Given the description of an element on the screen output the (x, y) to click on. 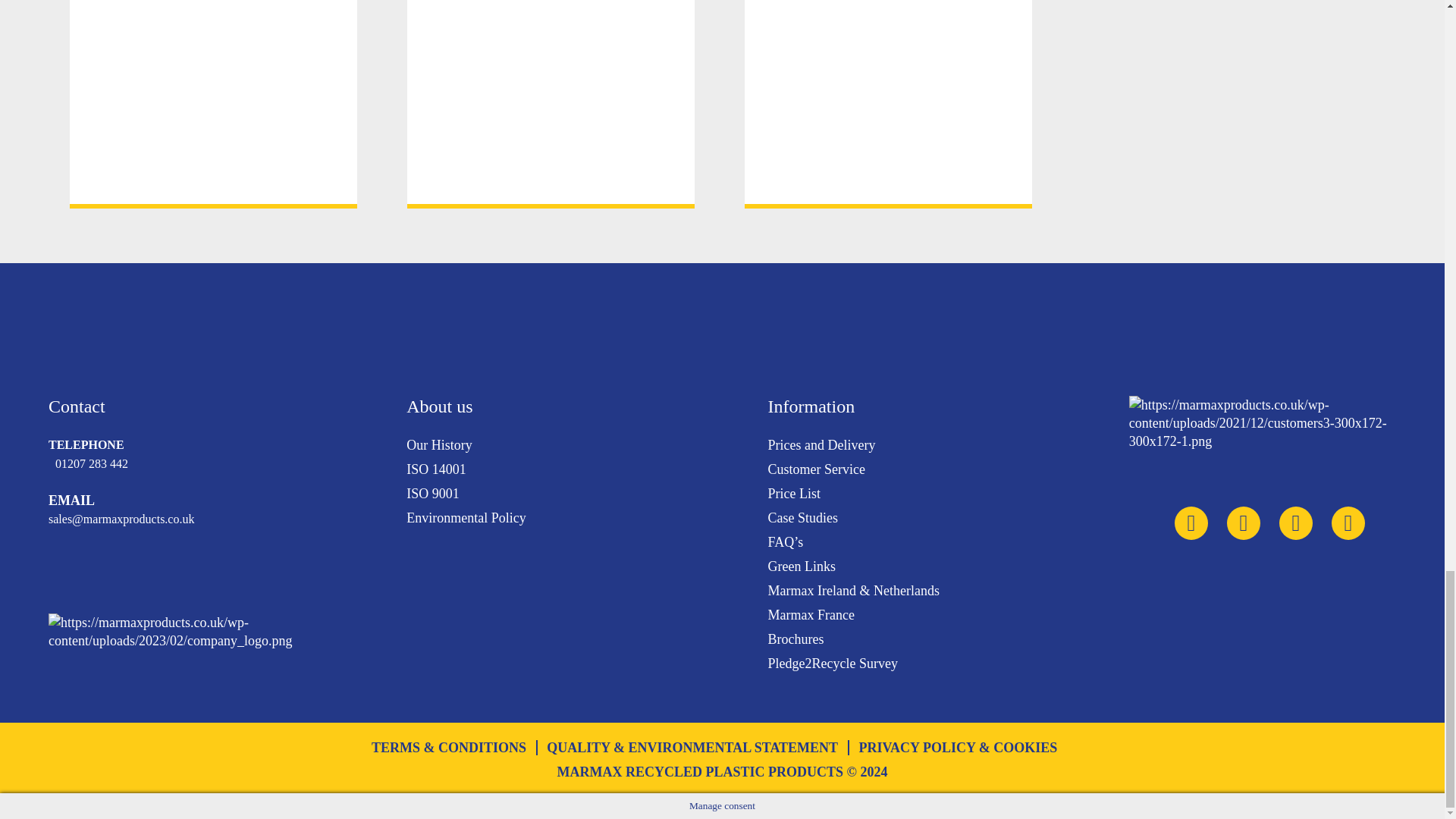
twitter (1191, 522)
linkedin (1296, 522)
Youtube (1243, 522)
facebook (1348, 522)
